Given the description of an element on the screen output the (x, y) to click on. 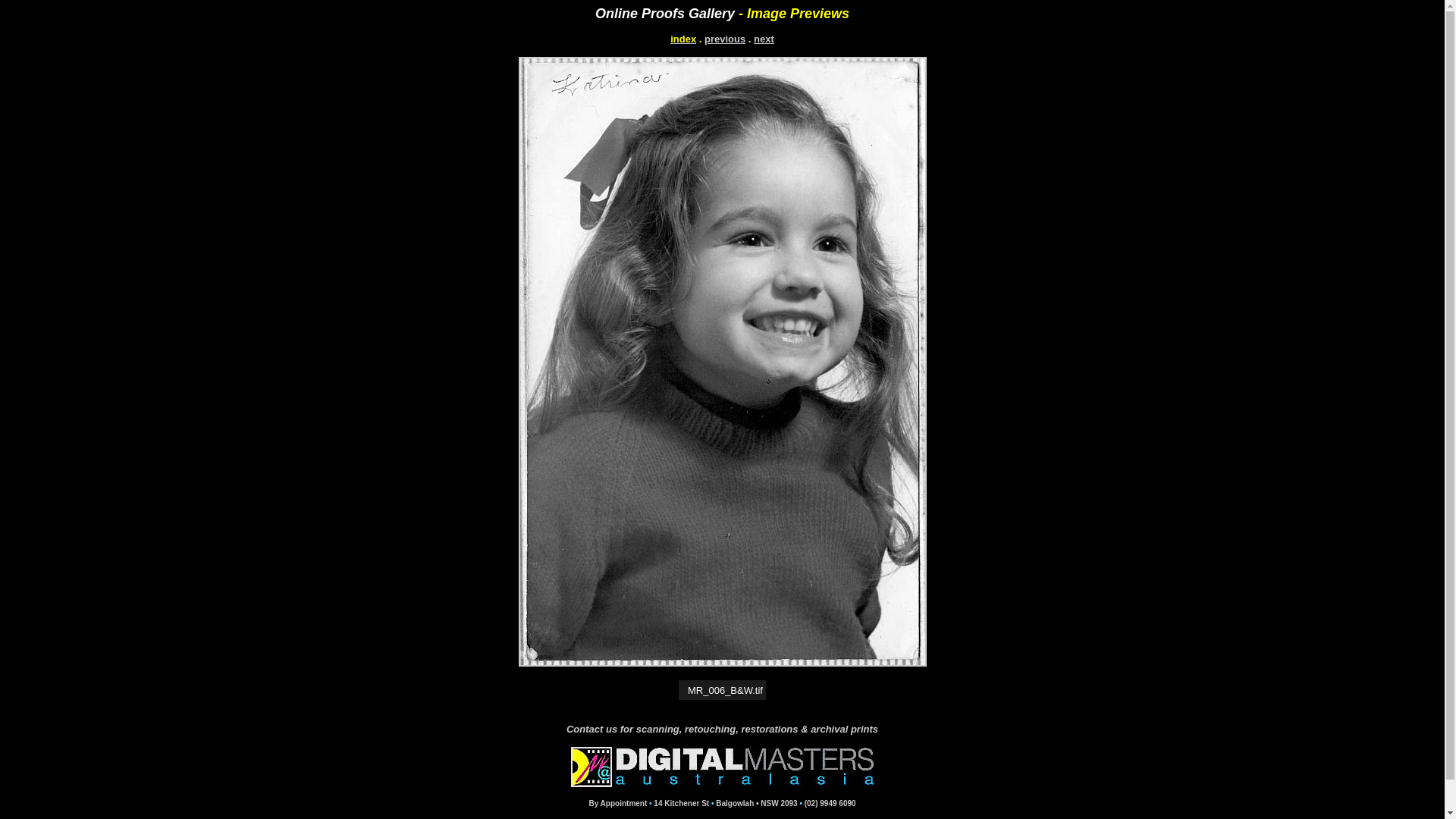
index Element type: text (683, 38)
next Element type: text (763, 38)
previous Element type: text (724, 38)
